Given the description of an element on the screen output the (x, y) to click on. 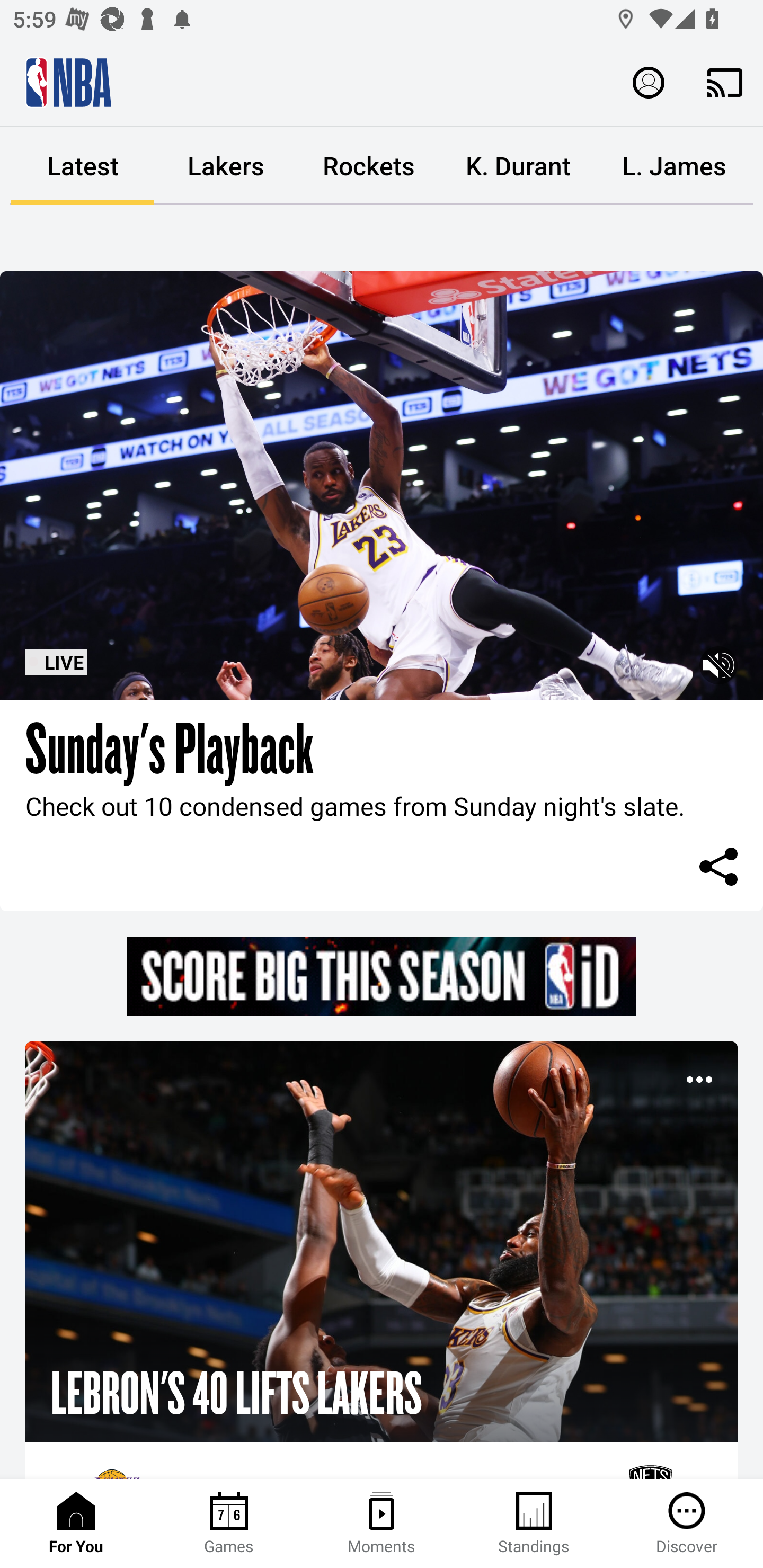
Cast. Disconnected (724, 82)
Profile (648, 81)
Lakers (225, 166)
Rockets (368, 166)
K. Durant (518, 166)
L. James (673, 166)
Games (228, 1523)
Moments (381, 1523)
Standings (533, 1523)
Discover (686, 1523)
